Given the description of an element on the screen output the (x, y) to click on. 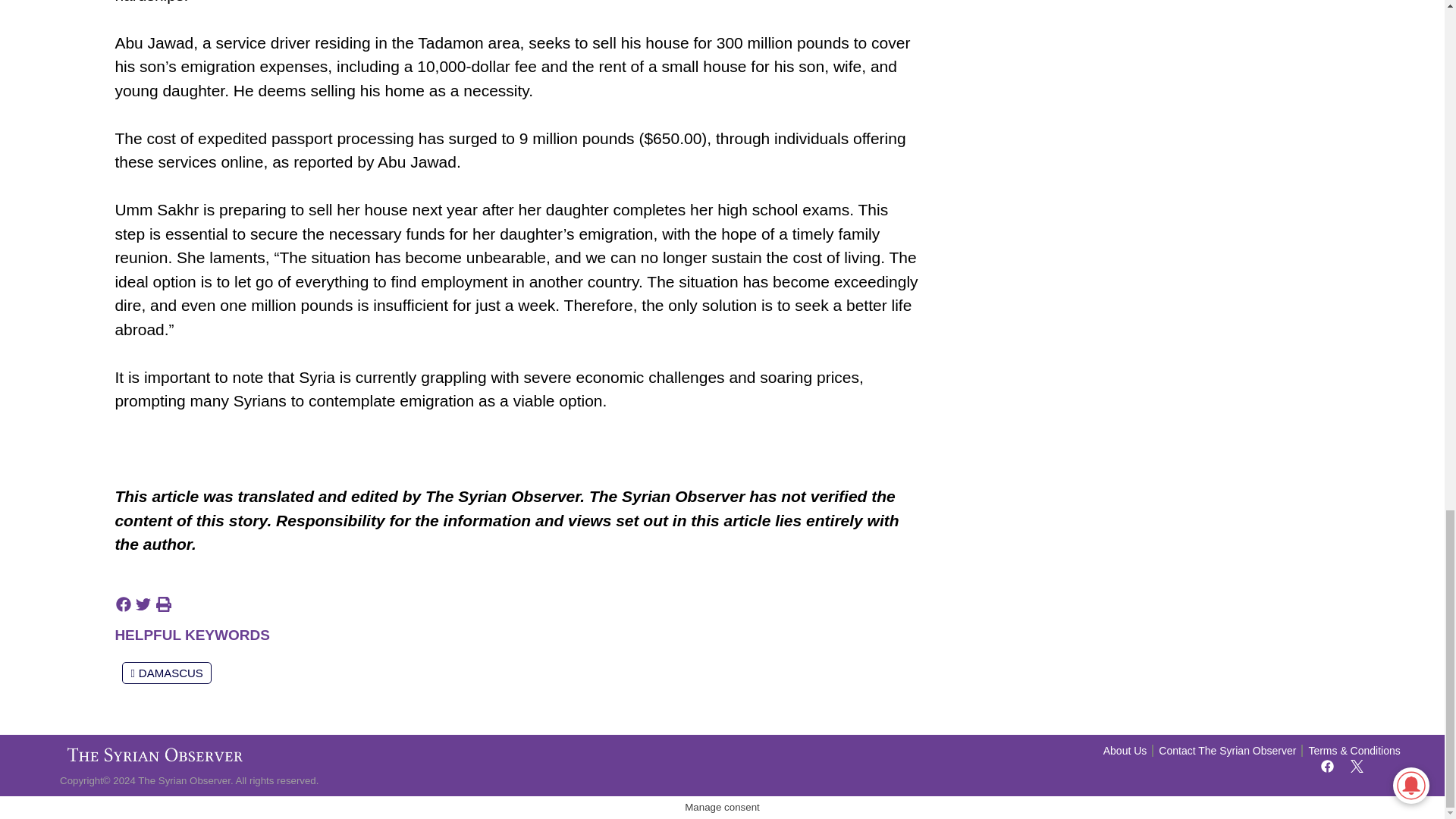
DAMASCUS (166, 672)
Contact The Syrian Observer (1227, 750)
About Us (1125, 750)
